Given the description of an element on the screen output the (x, y) to click on. 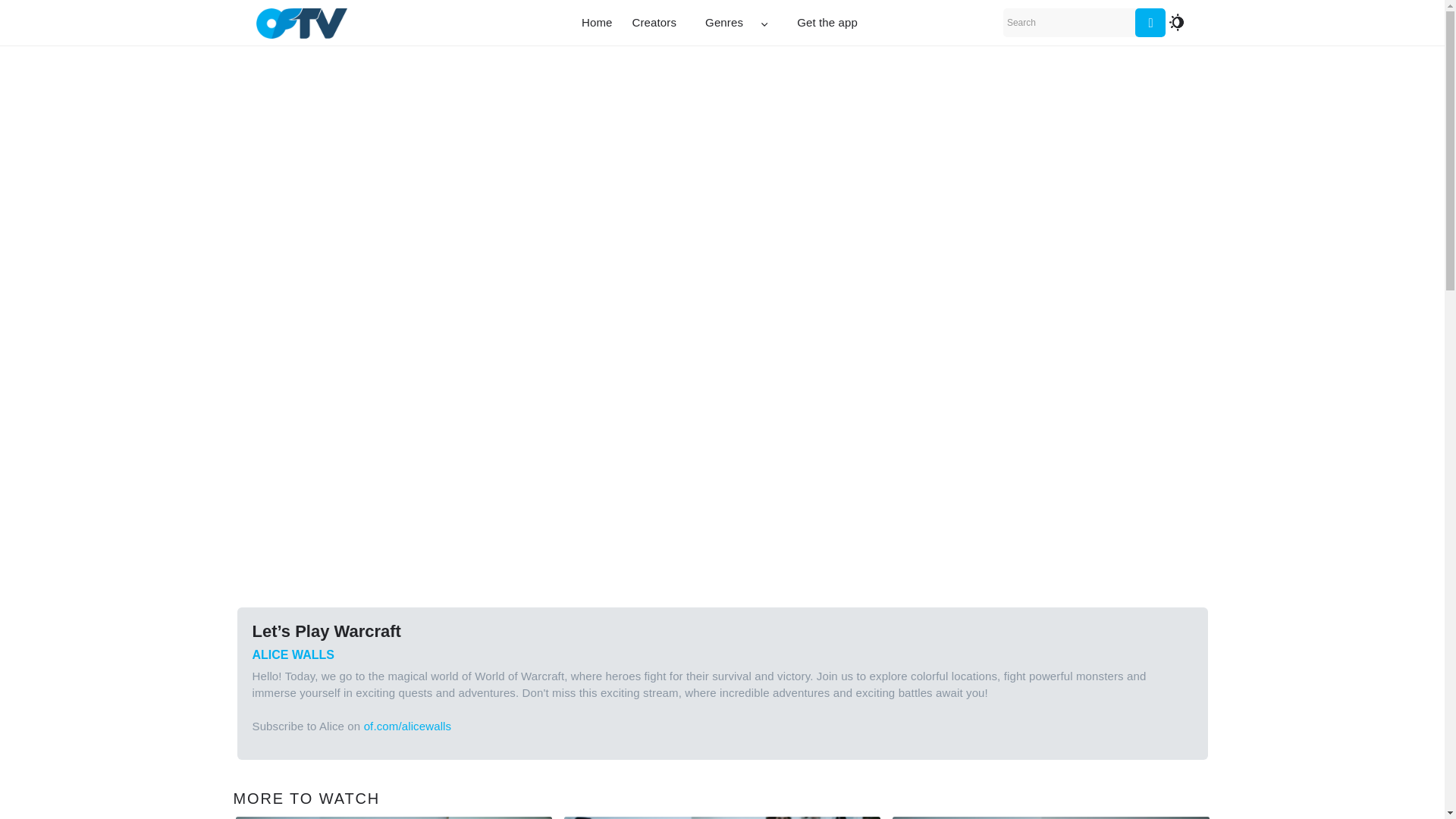
home (597, 22)
ALICE WALLS (292, 654)
Search Form (1084, 22)
creators (654, 22)
Get the app (827, 22)
Home (597, 22)
Creators (654, 22)
genres (736, 22)
Genres (736, 22)
gettheapp (827, 22)
